Given the description of an element on the screen output the (x, y) to click on. 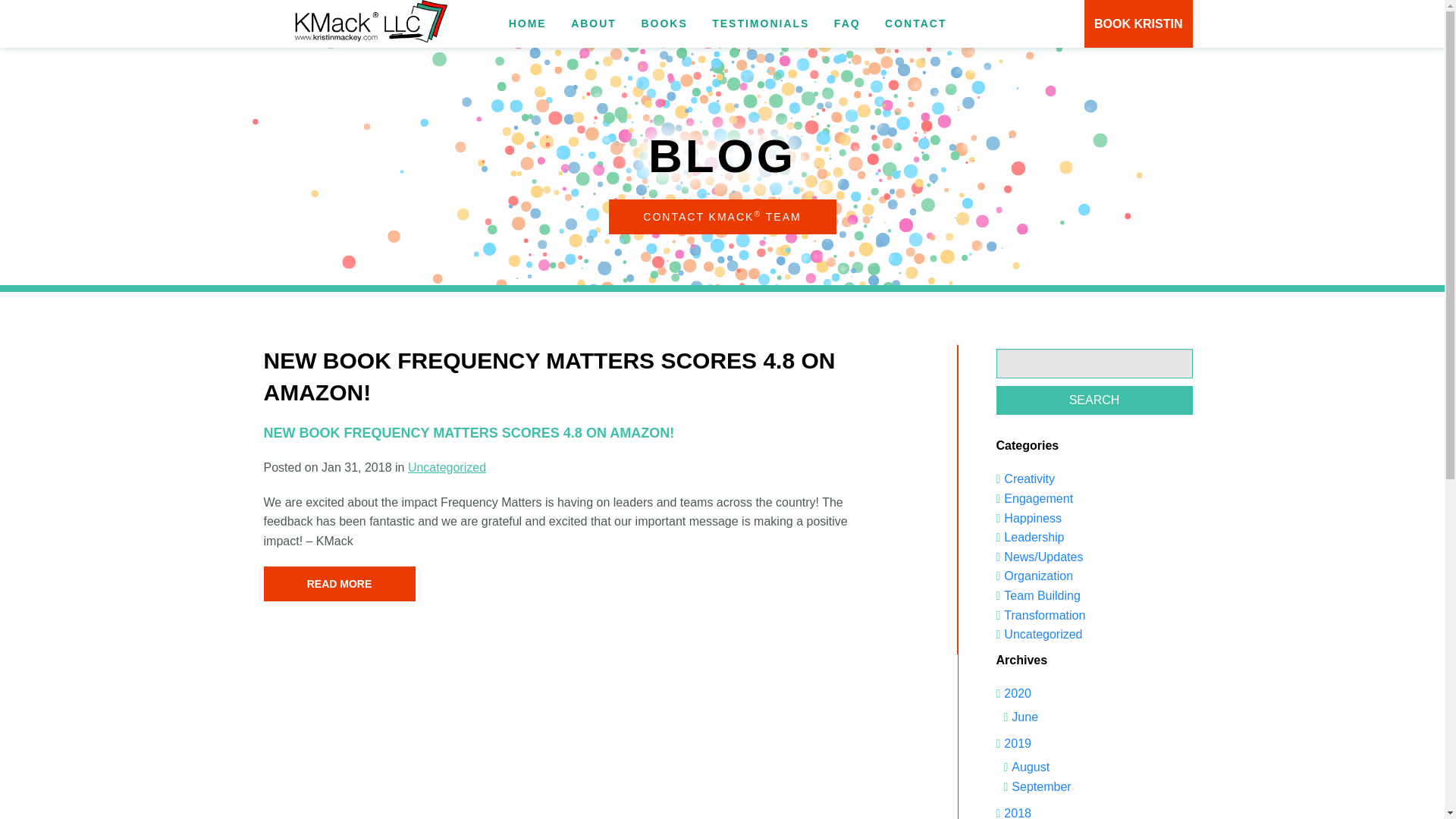
BOOKS (663, 23)
Team Building (1042, 594)
NEW BOOK FREQUENCY MATTERS SCORES 4.8 ON AMAZON! (575, 433)
CONTACT (915, 23)
Uncategorized (1042, 634)
Transformation (1044, 615)
Engagement (1038, 498)
Year 2018 archives (1017, 812)
June (1024, 716)
Leadership (1034, 536)
